Given the description of an element on the screen output the (x, y) to click on. 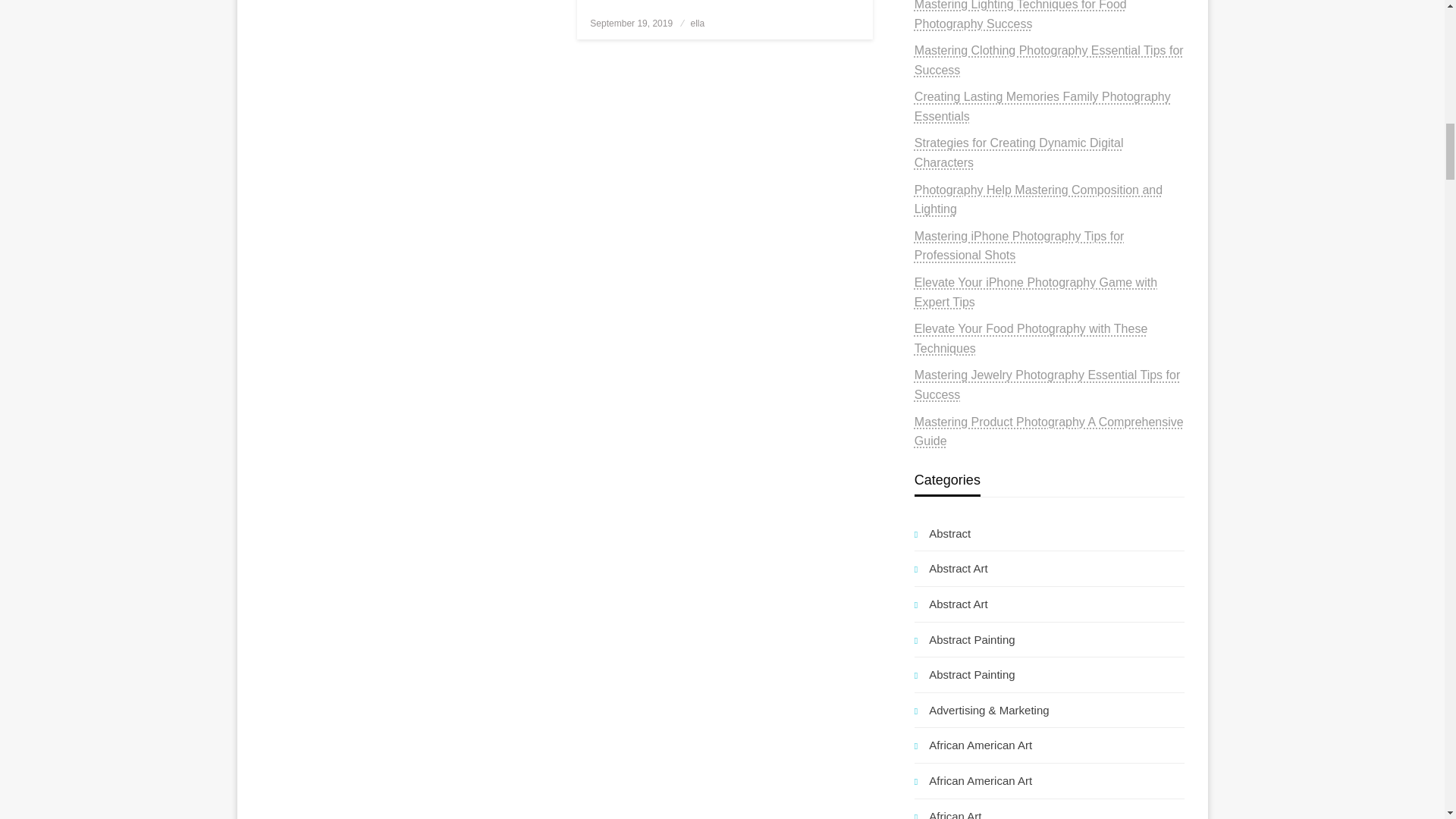
ella (697, 23)
